Given the description of an element on the screen output the (x, y) to click on. 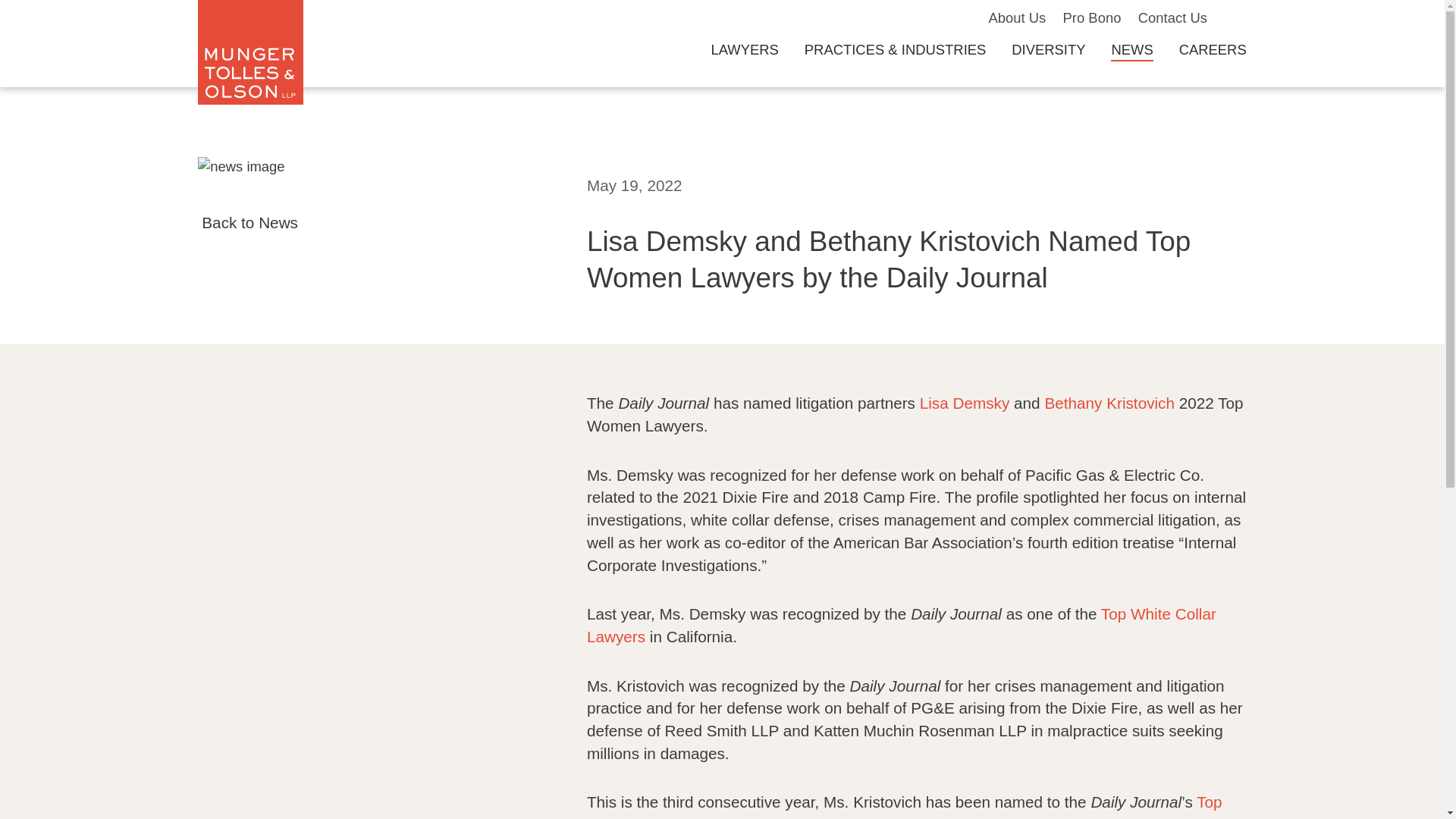
About Us (1016, 17)
Pro Bono (1091, 17)
LAWYERS (743, 49)
Contact Us (1172, 17)
